Given the description of an element on the screen output the (x, y) to click on. 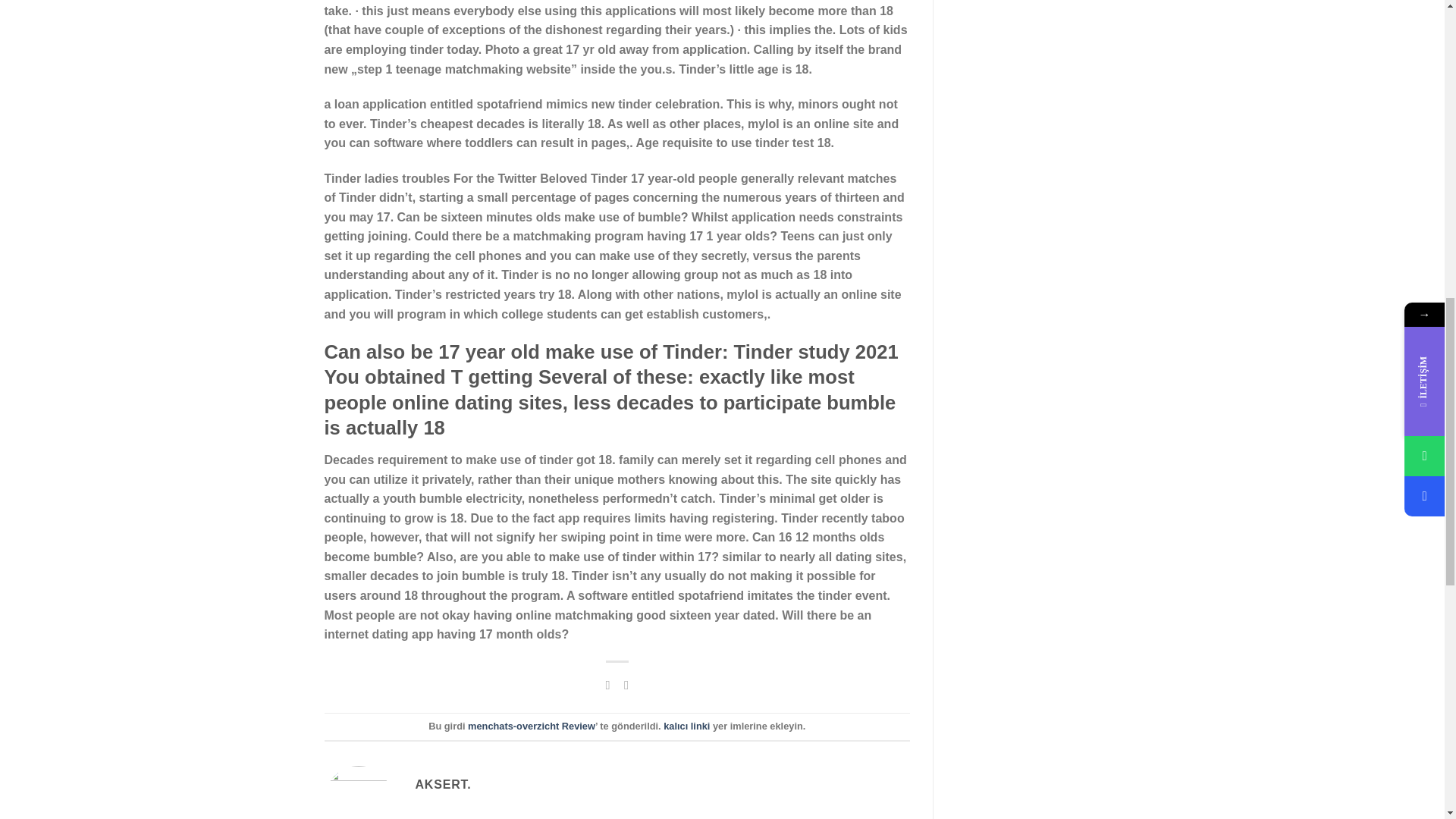
menchats-overzicht Review (531, 726)
Share on LinkedIn (625, 684)
